Given the description of an element on the screen output the (x, y) to click on. 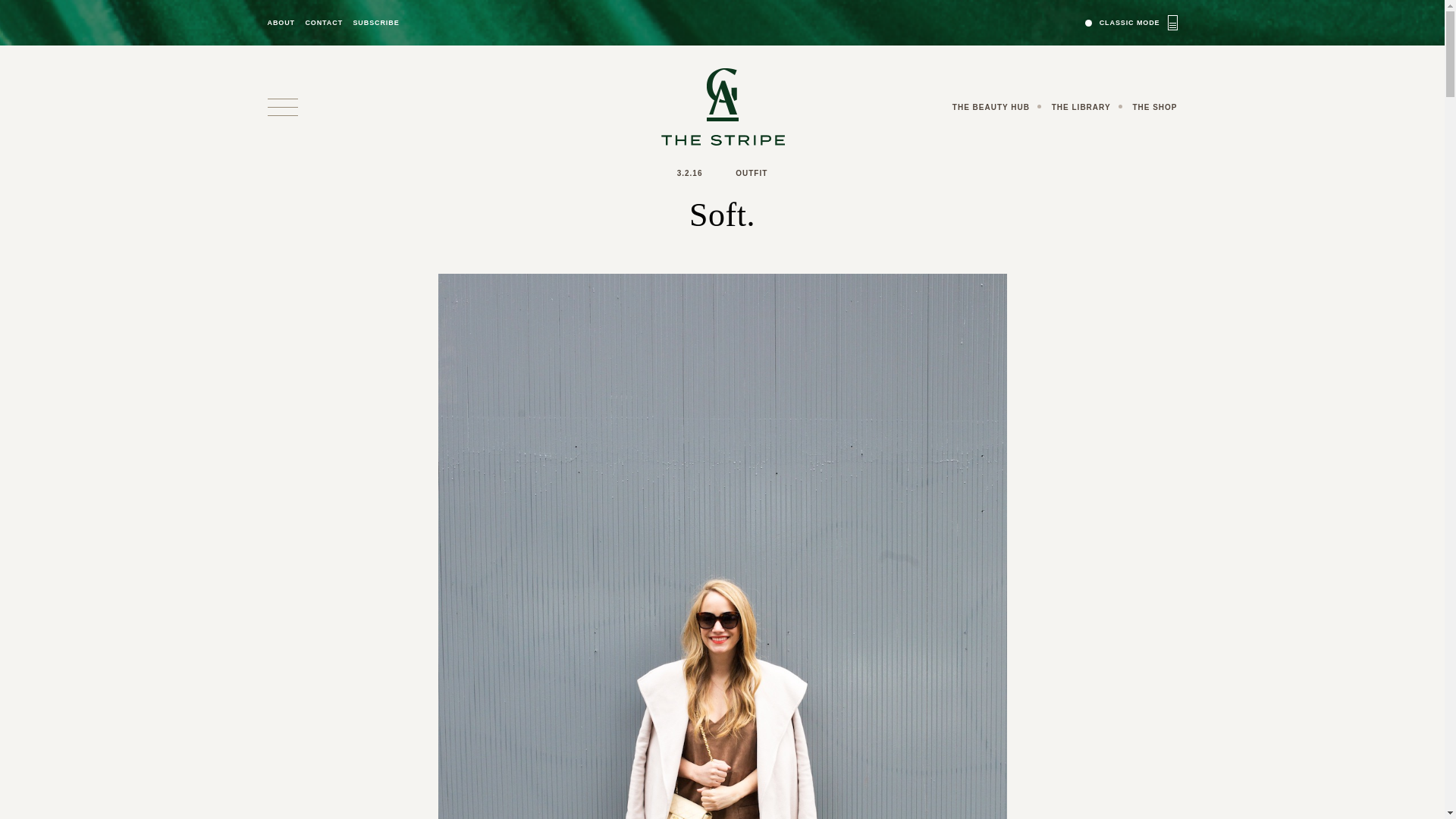
SUBSCRIBE (375, 23)
ABOUT (280, 23)
CLASSIC MODE (1130, 22)
View all posts in outfit (751, 172)
The Stripe (722, 106)
CONTACT (323, 23)
